Given the description of an element on the screen output the (x, y) to click on. 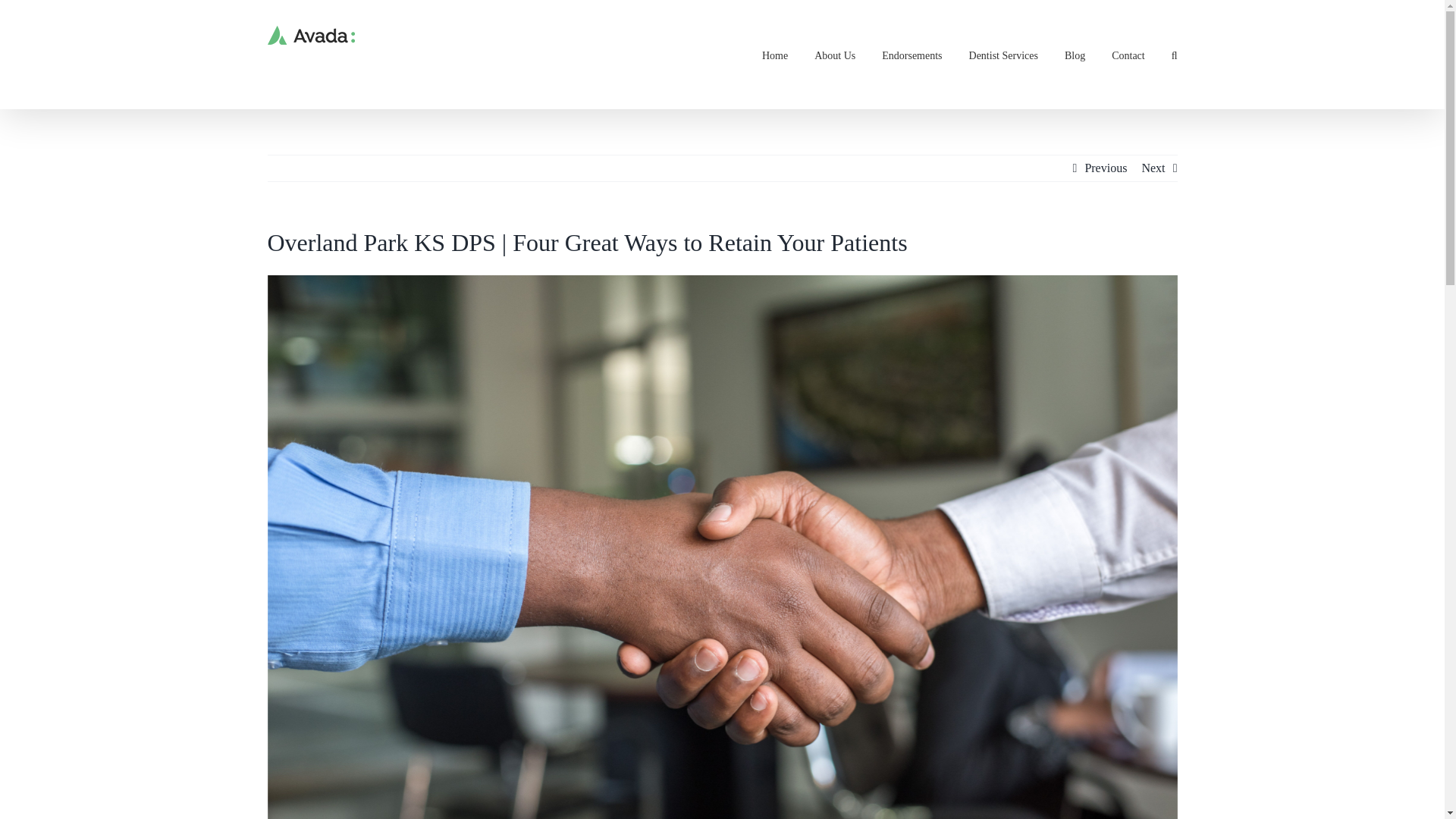
Previous (1105, 167)
Next (1152, 167)
